Given the description of an element on the screen output the (x, y) to click on. 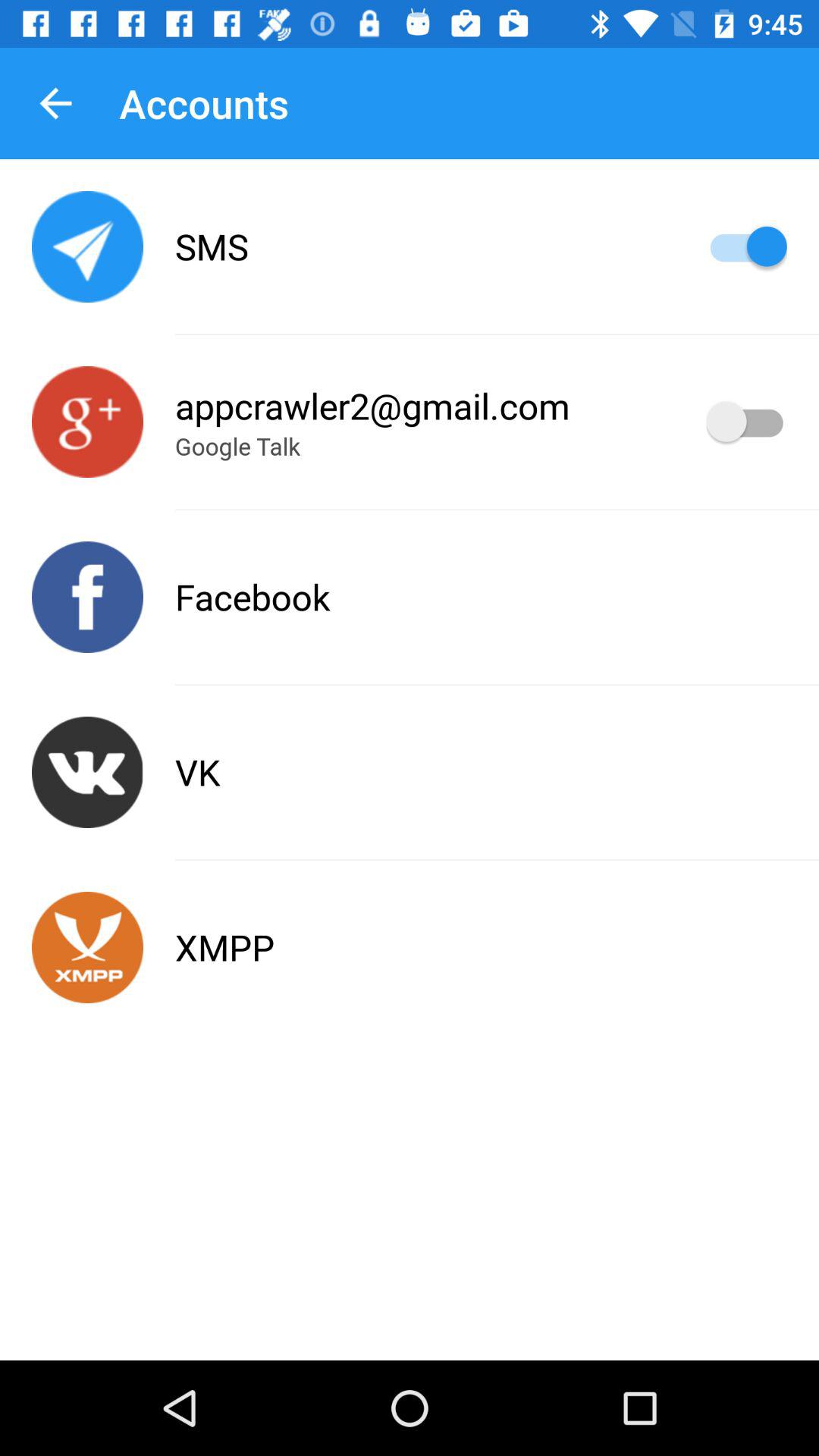
toggle selection (746, 421)
